Given the description of an element on the screen output the (x, y) to click on. 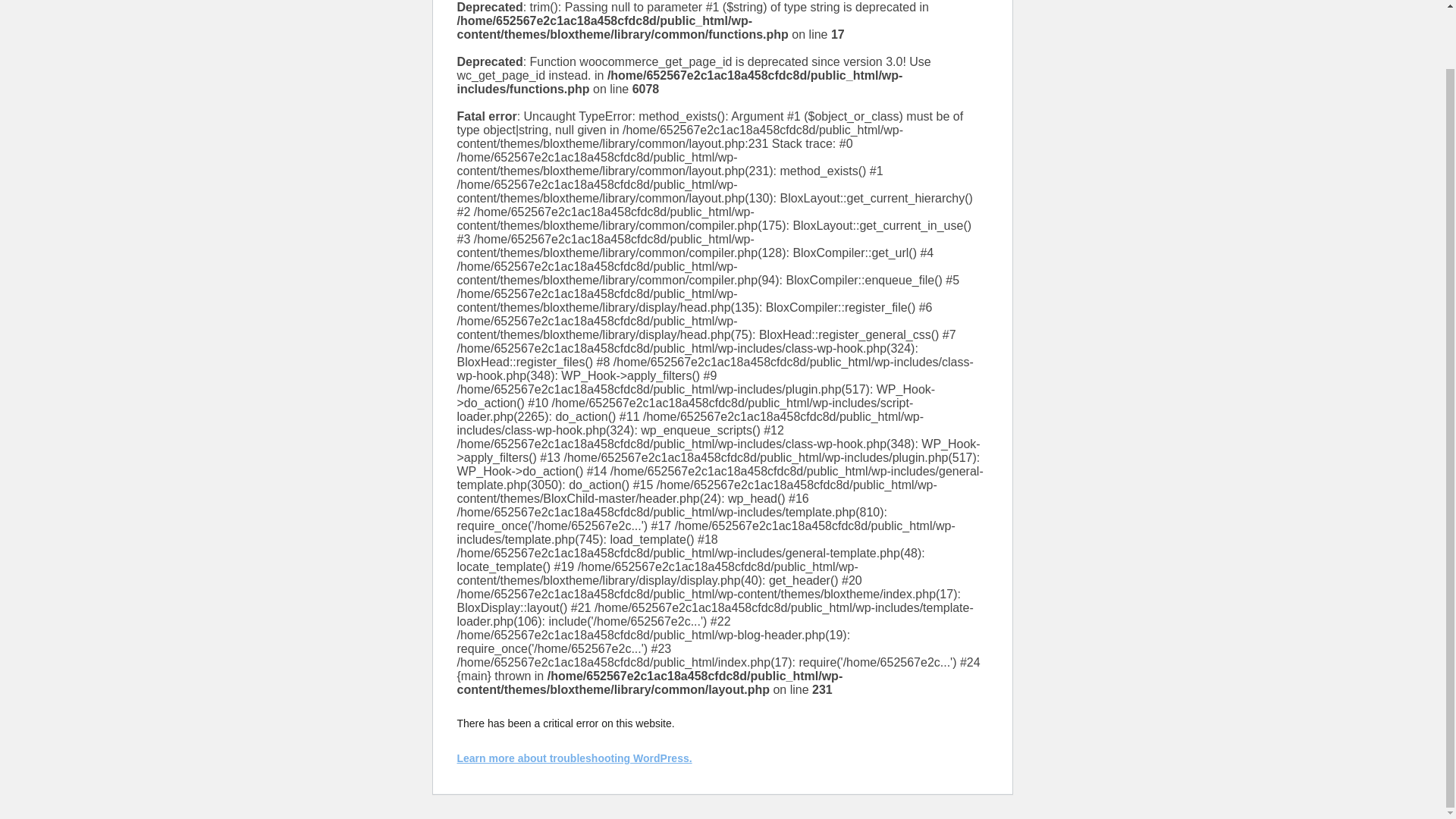
Learn more about troubleshooting WordPress. (574, 758)
